Given the description of an element on the screen output the (x, y) to click on. 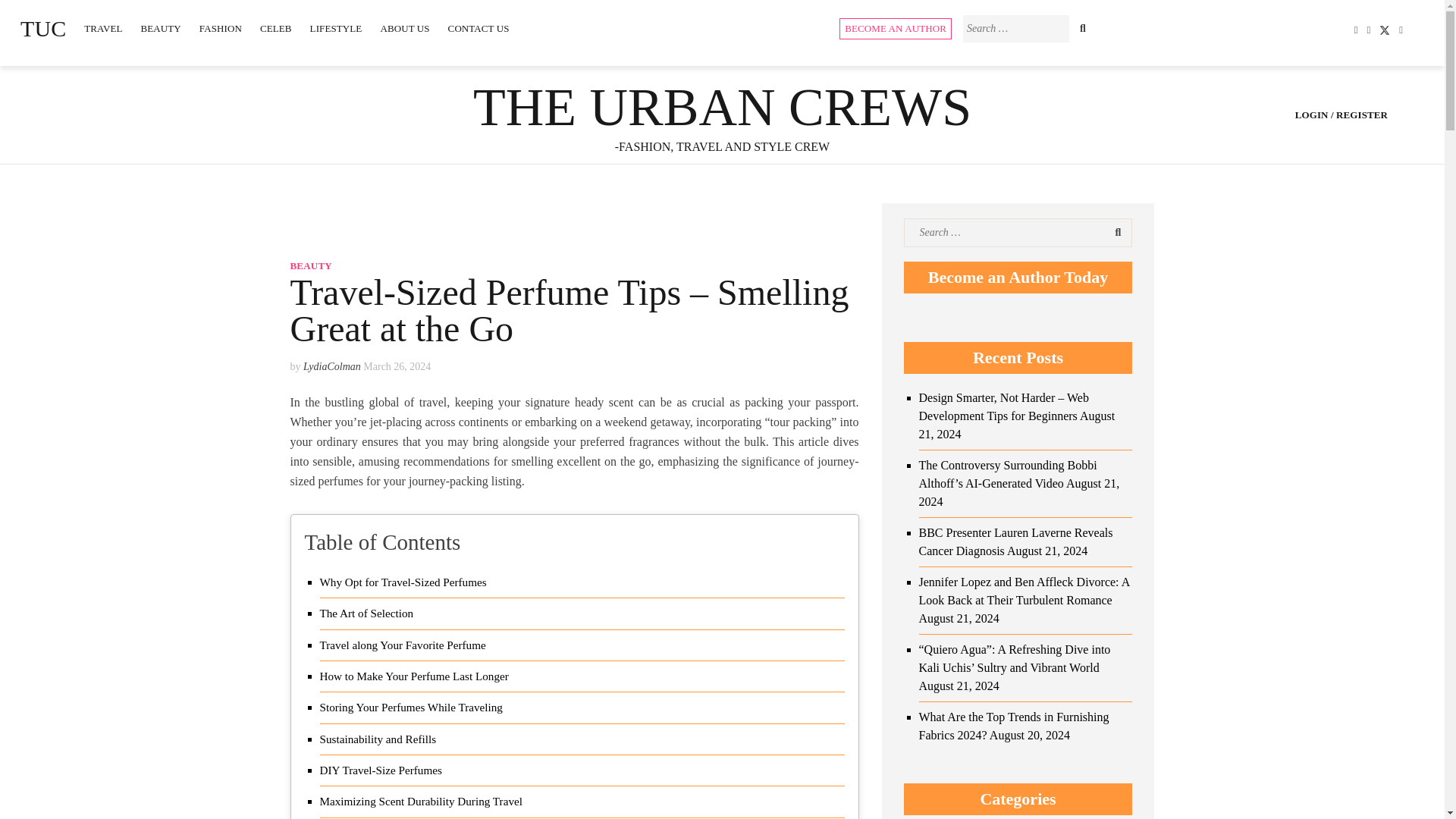
BEAUTY (161, 28)
FASHION (220, 28)
Why Opt for Travel-Sized Perfumes (403, 582)
DIY Travel-Size Perfumes (381, 770)
ABOUT US (404, 28)
Storing Your Perfumes While Traveling (411, 707)
The Art of Selection (366, 613)
CONTACT US (478, 28)
Sustainability and Refills (378, 739)
How to Make Your Perfume Last Longer (414, 676)
